Given the description of an element on the screen output the (x, y) to click on. 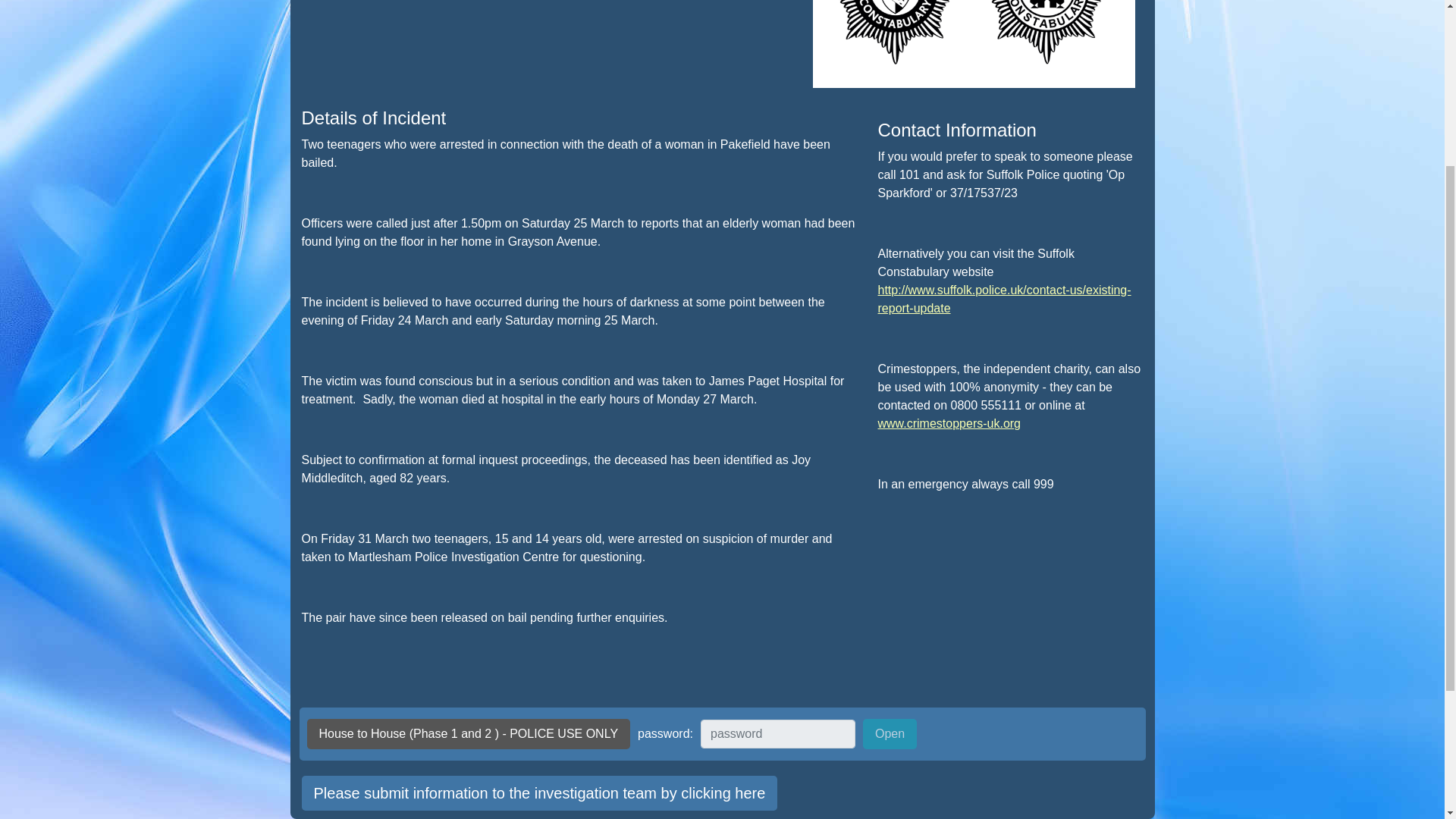
www.crimestoppers-uk.org (949, 422)
Open (890, 734)
